Given the description of an element on the screen output the (x, y) to click on. 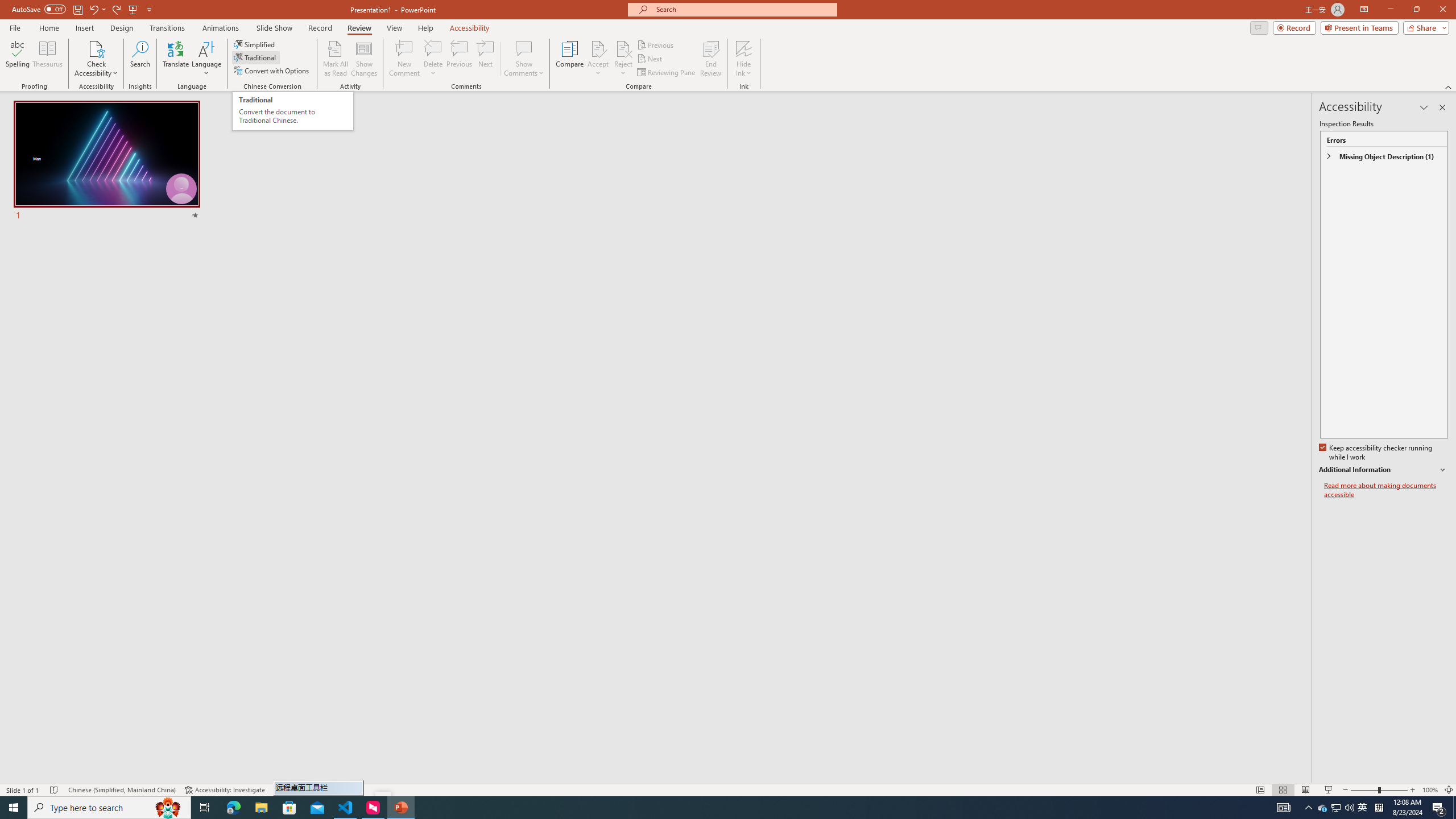
Previous (655, 44)
Accept (598, 58)
Zoom 100% (1430, 790)
Simplified (254, 44)
Traditional (255, 56)
Delete (432, 58)
